Given the description of an element on the screen output the (x, y) to click on. 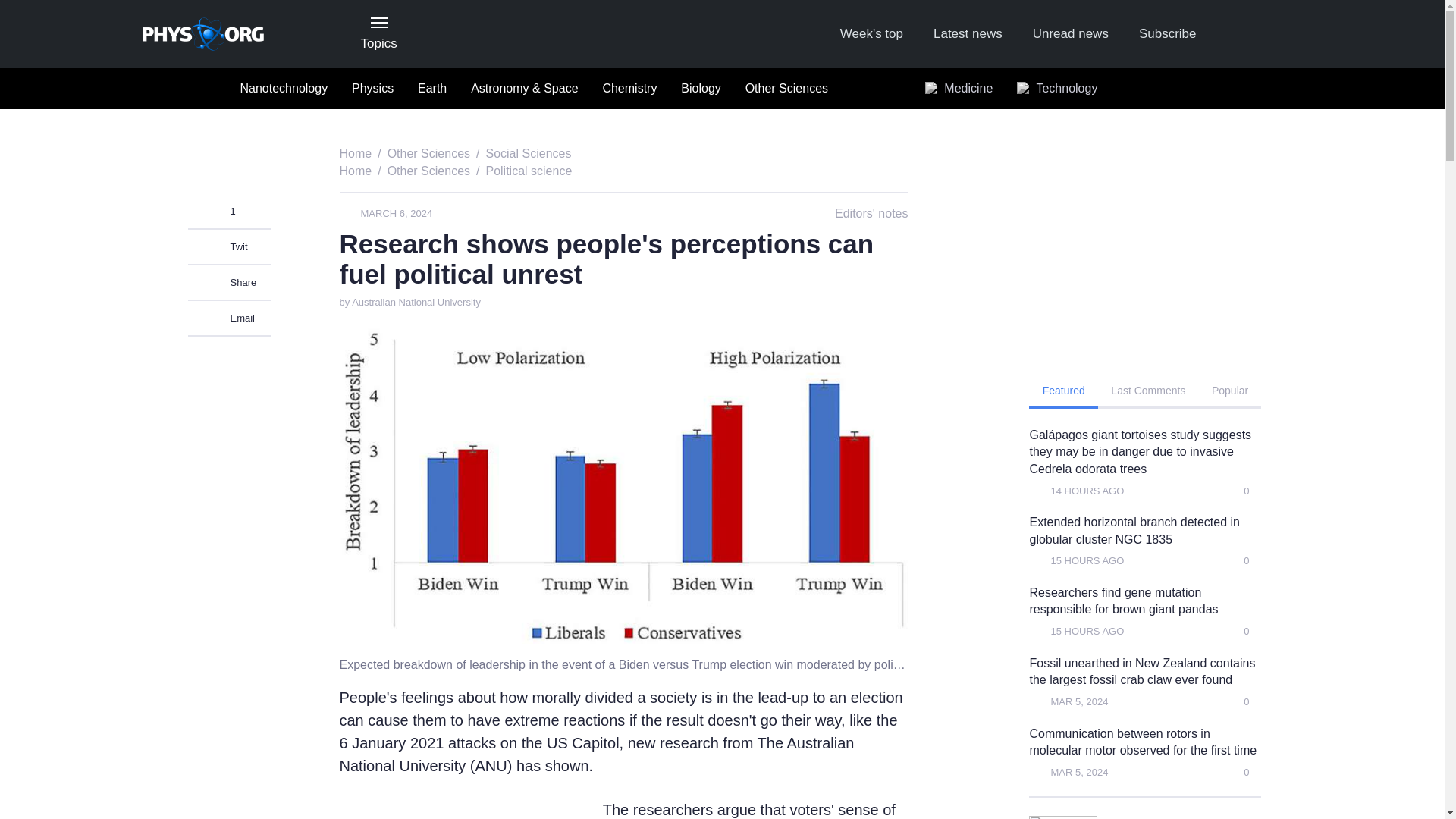
Save as pdf file (869, 154)
Latest news (968, 34)
1 (228, 212)
Home (355, 170)
Email (228, 318)
Medicine (958, 88)
Technology (1057, 88)
Editors' notes (859, 213)
Subscribe (1167, 34)
Earth (432, 88)
Nanotechnology (282, 88)
Other Sciences (428, 153)
Print (898, 154)
Political science (528, 170)
Other Sciences (428, 170)
